Given the description of an element on the screen output the (x, y) to click on. 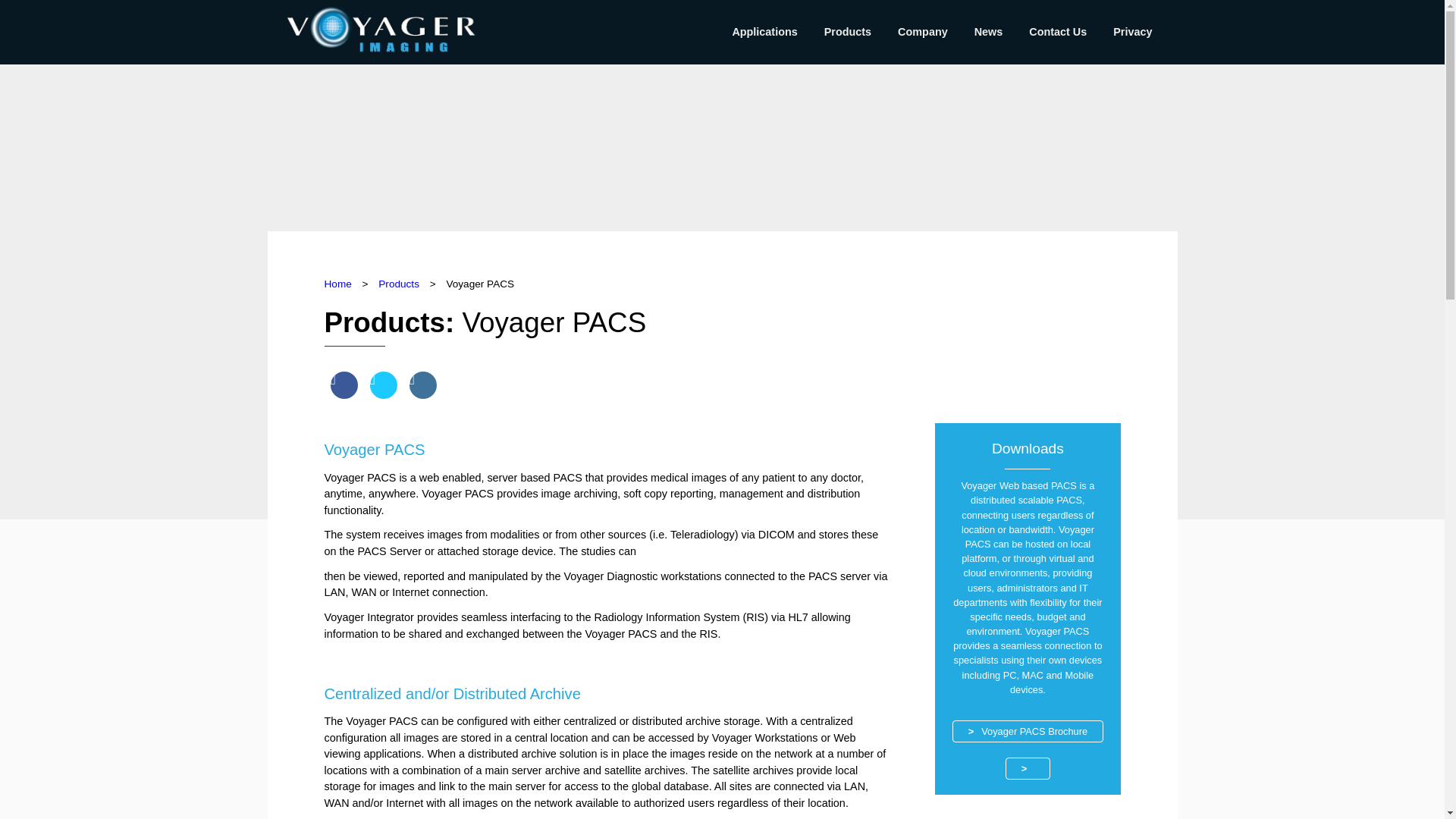
Products (847, 32)
Company (921, 32)
News (988, 32)
Home (338, 283)
Contact Us (1057, 32)
Products (398, 283)
Privacy (1132, 32)
Voyager PACS Brochure (1027, 731)
Applications (763, 32)
